Given the description of an element on the screen output the (x, y) to click on. 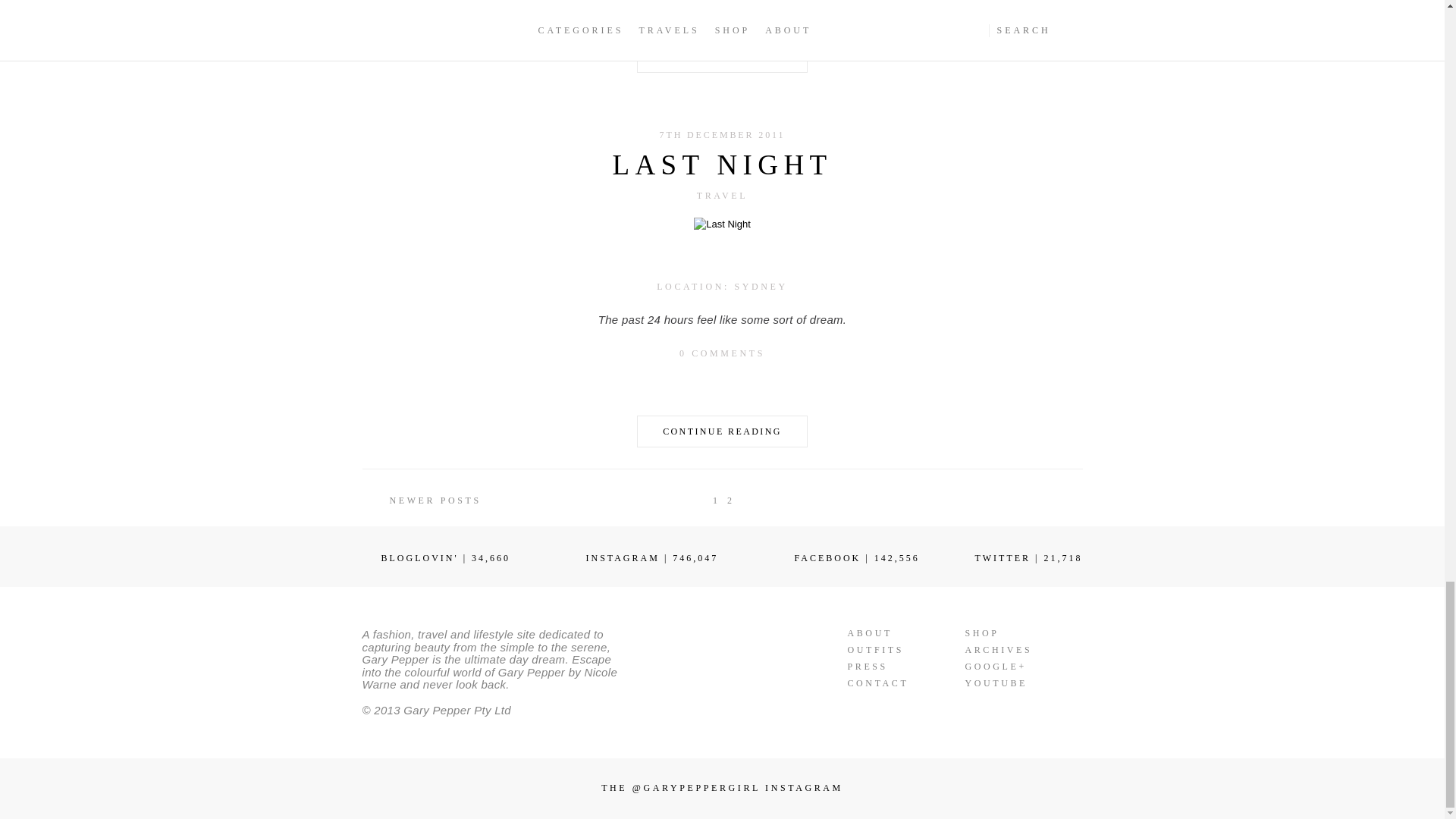
Share on Twitter (721, 9)
View all posts filed under Travel (722, 195)
Share on Twitter (721, 384)
Pin This Post (751, 9)
Pin This Post (751, 384)
